Given the description of an element on the screen output the (x, y) to click on. 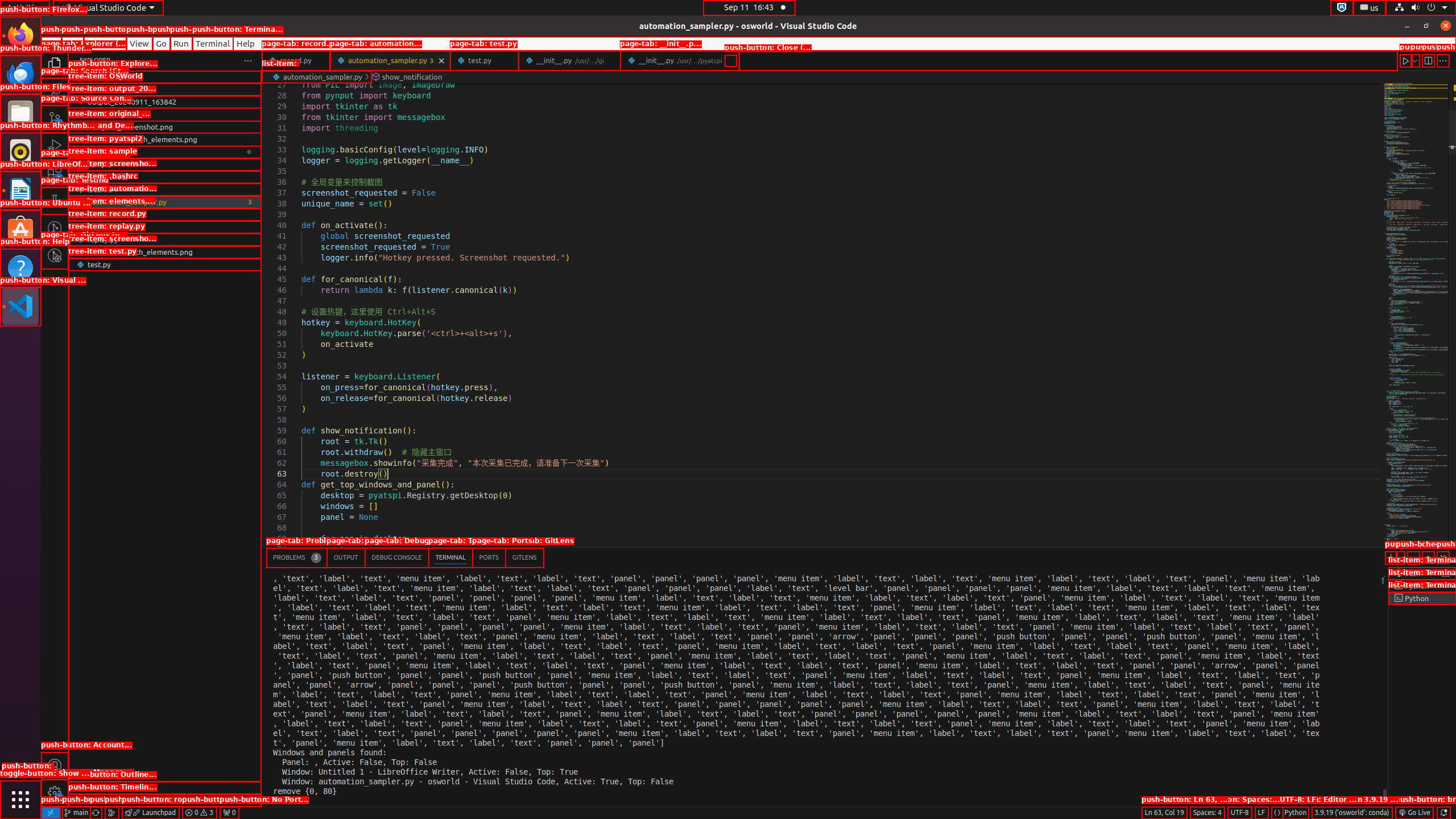
Edit Element type: push-button (72, 43)
Run Python File Element type: push-button (1405, 60)
:1.21/StatusNotifierItem Element type: menu (1369, 7)
View Element type: push-button (139, 43)
Testing Element type: page-tab (54, 200)
